Given the description of an element on the screen output the (x, y) to click on. 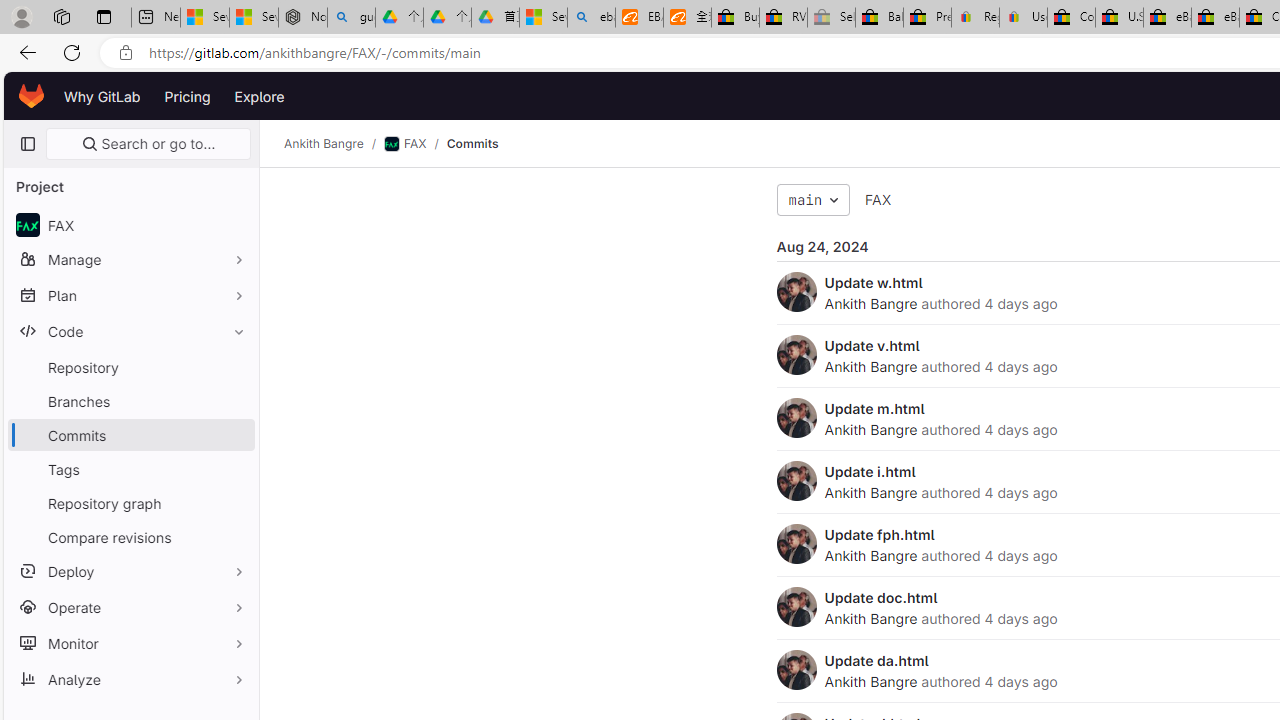
Analyze (130, 678)
Repository graph (130, 502)
U.S. State Privacy Disclosures - eBay Inc. (1119, 17)
Commits (472, 143)
Update da.html (876, 660)
Repository (130, 367)
Monitor (130, 642)
RV, Trailer & Camper Steps & Ladders for sale | eBay (783, 17)
Manage (130, 259)
Why GitLab (102, 95)
FAX (878, 199)
Operate (130, 606)
Plan (130, 295)
